Given the description of an element on the screen output the (x, y) to click on. 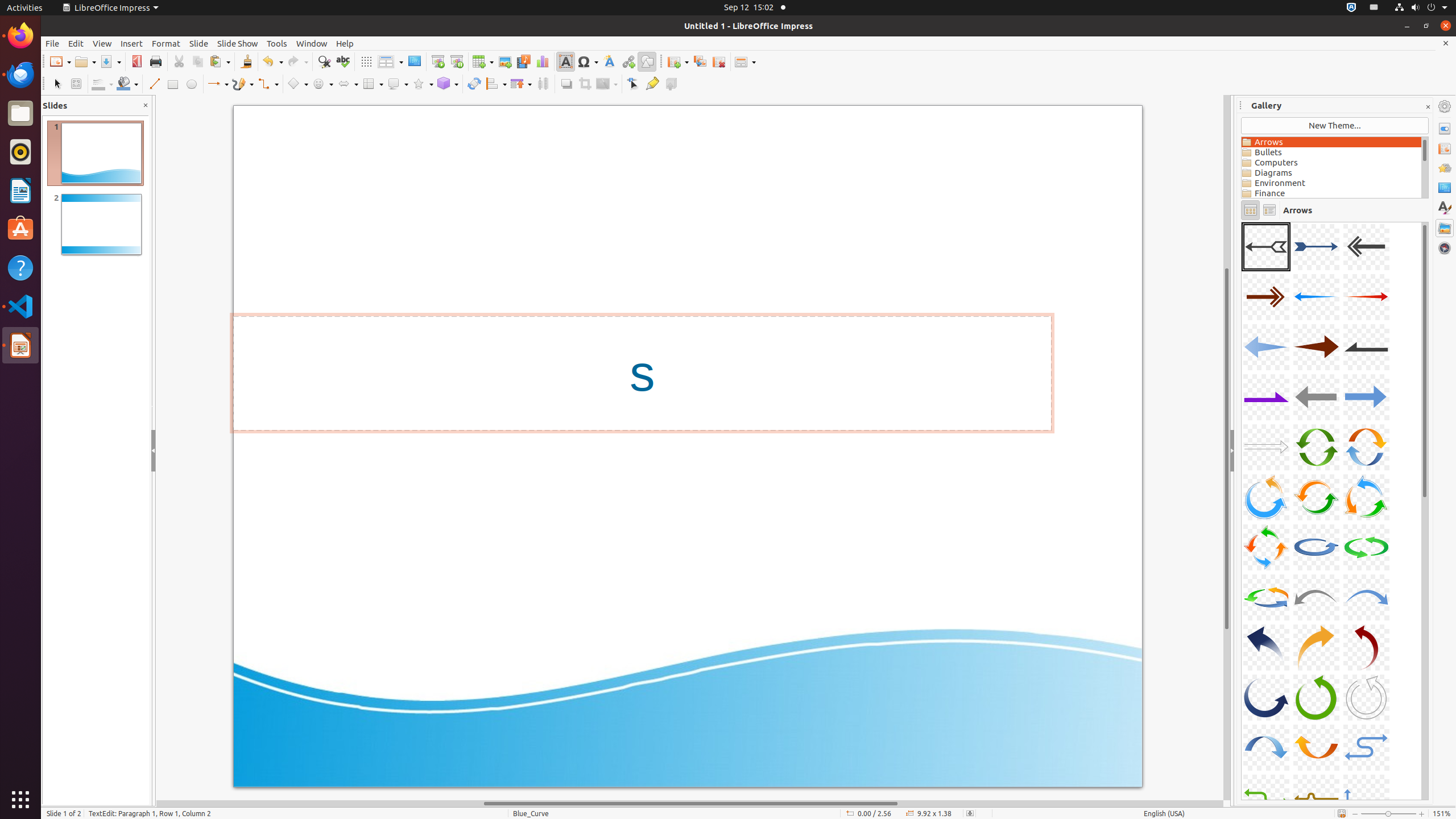
Slide Layout Element type: push-button (744, 61)
Start from Current Slide Element type: push-button (456, 61)
Print Element type: push-button (155, 61)
Find & Replace Element type: toggle-button (323, 61)
A17-CircleArrow Element type: list-item (1315, 496)
